Given the description of an element on the screen output the (x, y) to click on. 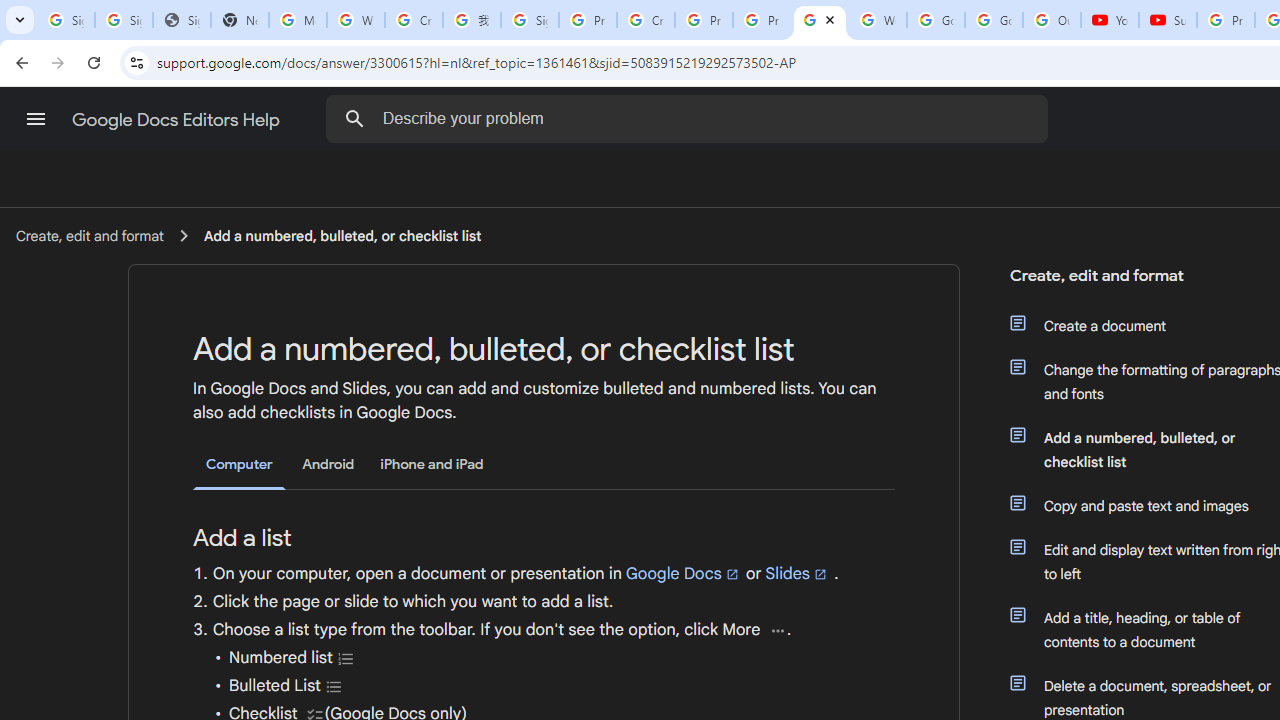
Search the Help Center (354, 118)
Who is my administrator? - Google Account Help (355, 20)
Google Account (993, 20)
Describe your problem (689, 118)
Computer (239, 465)
Create your Google Account (413, 20)
Android (328, 464)
More (777, 630)
Subscriptions - YouTube (1167, 20)
iPhone and iPad (431, 464)
